Given the description of an element on the screen output the (x, y) to click on. 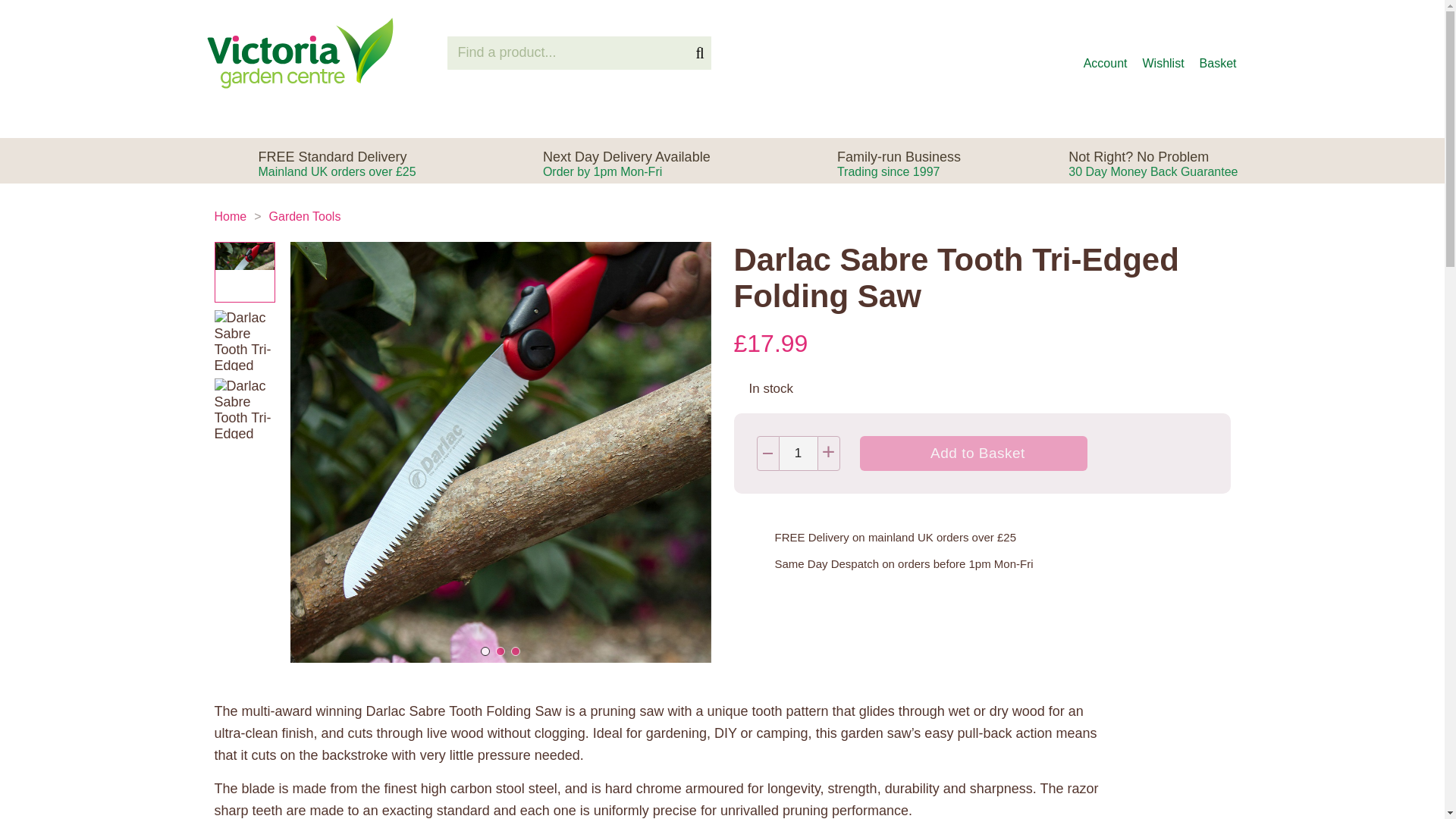
1 (797, 452)
Add to Wish List (626, 164)
Go (1196, 453)
Giftware (699, 52)
Homeware (951, 118)
Outdoor Living (844, 118)
Add to Basket (717, 118)
Account (973, 452)
Wishlist (1104, 53)
Garden Tools (1162, 53)
Home (304, 215)
Garden Tools (230, 215)
Basket (417, 118)
In stock (1219, 53)
